Given the description of an element on the screen output the (x, y) to click on. 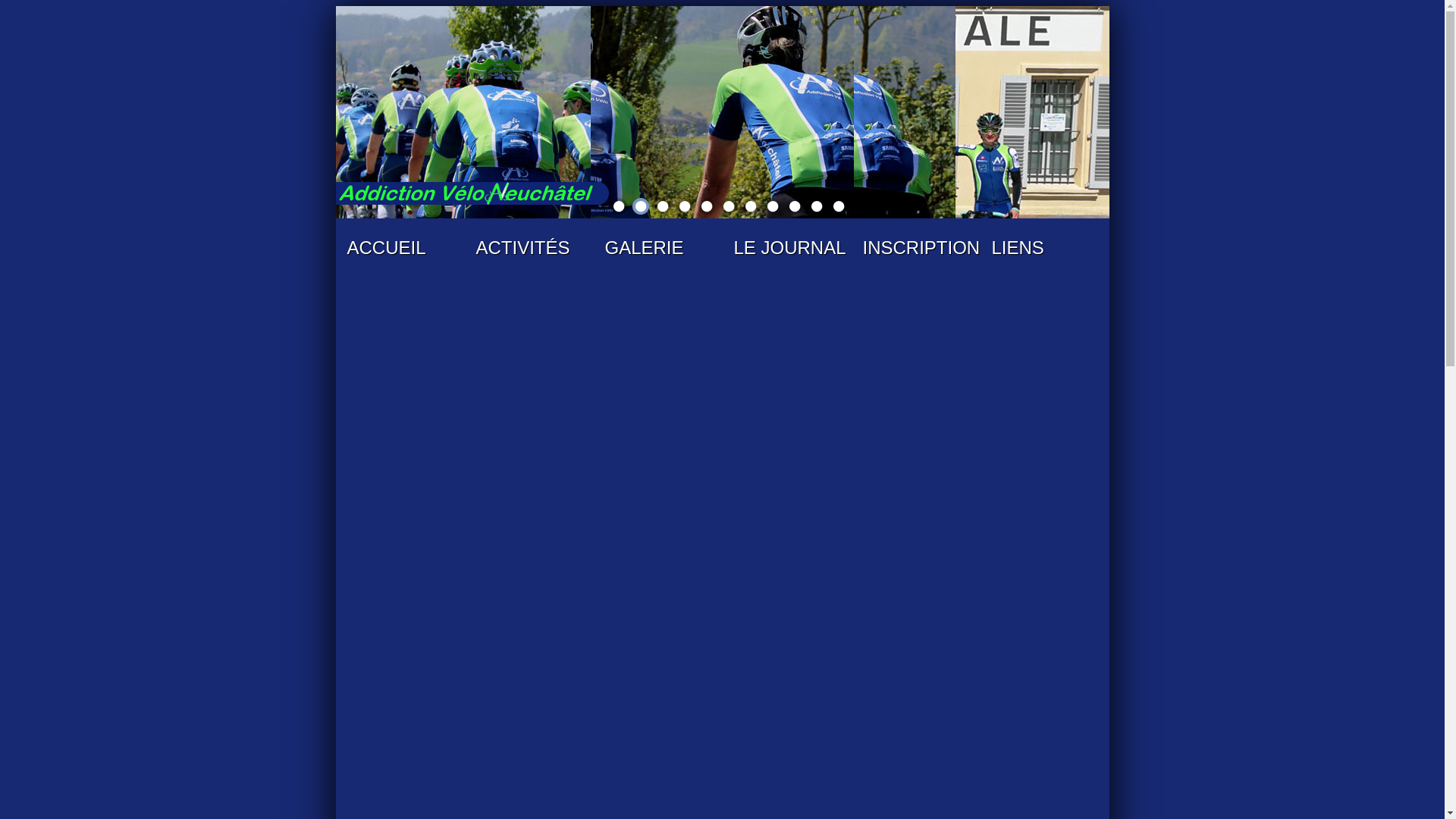
GALERIE Element type: text (657, 250)
LIENS Element type: text (1043, 250)
7 Element type: text (750, 205)
3 Element type: text (662, 205)
2 Element type: hover (507, 112)
1 Element type: text (618, 205)
10 Element type: text (816, 205)
5 Element type: text (706, 205)
2 Element type: text (640, 205)
1 Element type: hover (721, 112)
INSCRIPTION Element type: text (914, 250)
8 Element type: text (772, 205)
ACCUEIL Element type: text (399, 250)
9 Element type: text (794, 205)
6 Element type: text (728, 205)
LE JOURNAL Element type: text (785, 250)
4 Element type: text (684, 205)
11 Element type: text (838, 205)
